Given the description of an element on the screen output the (x, y) to click on. 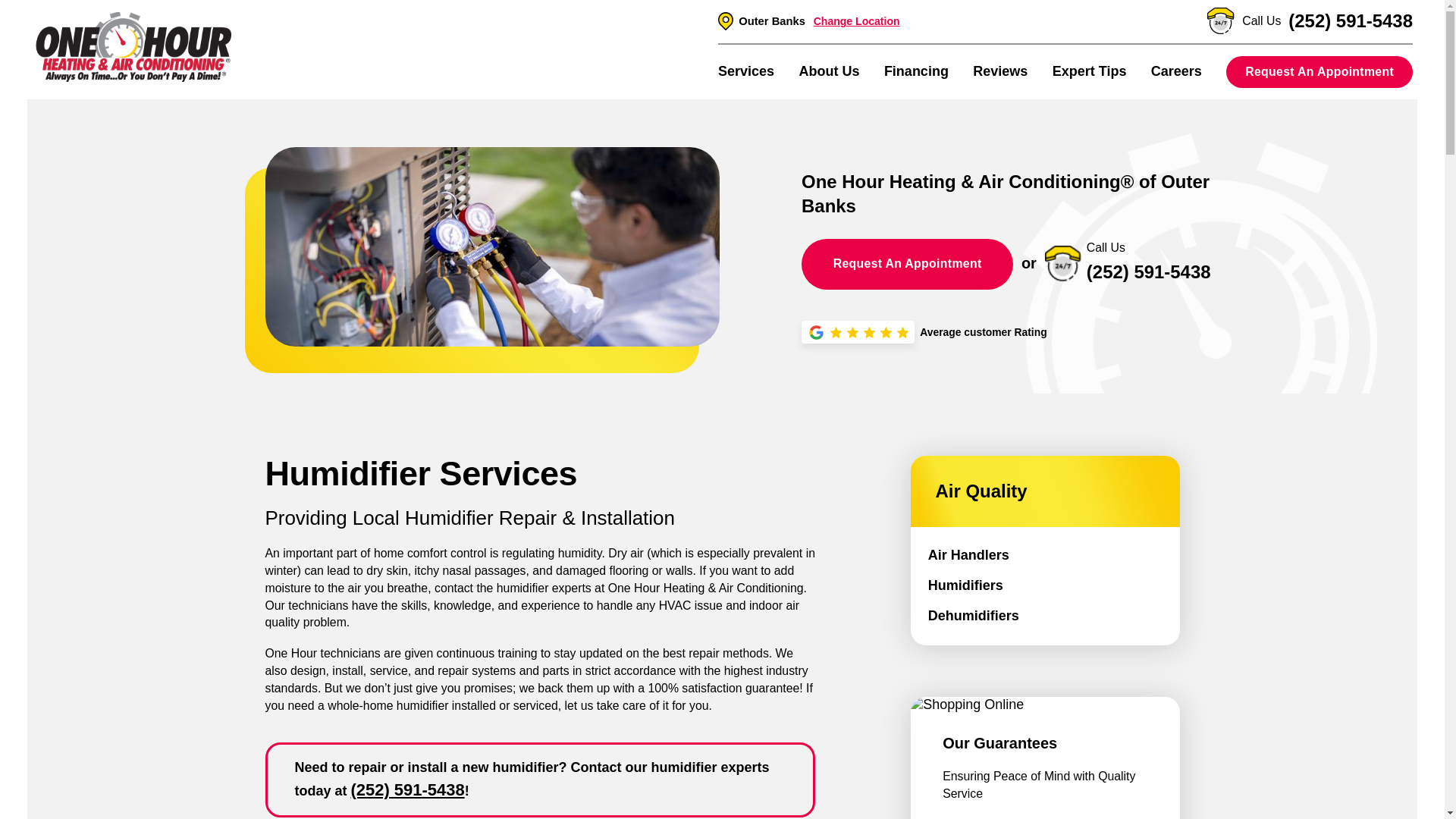
Services (745, 71)
About Us (828, 71)
Change Location (856, 21)
